Given the description of an element on the screen output the (x, y) to click on. 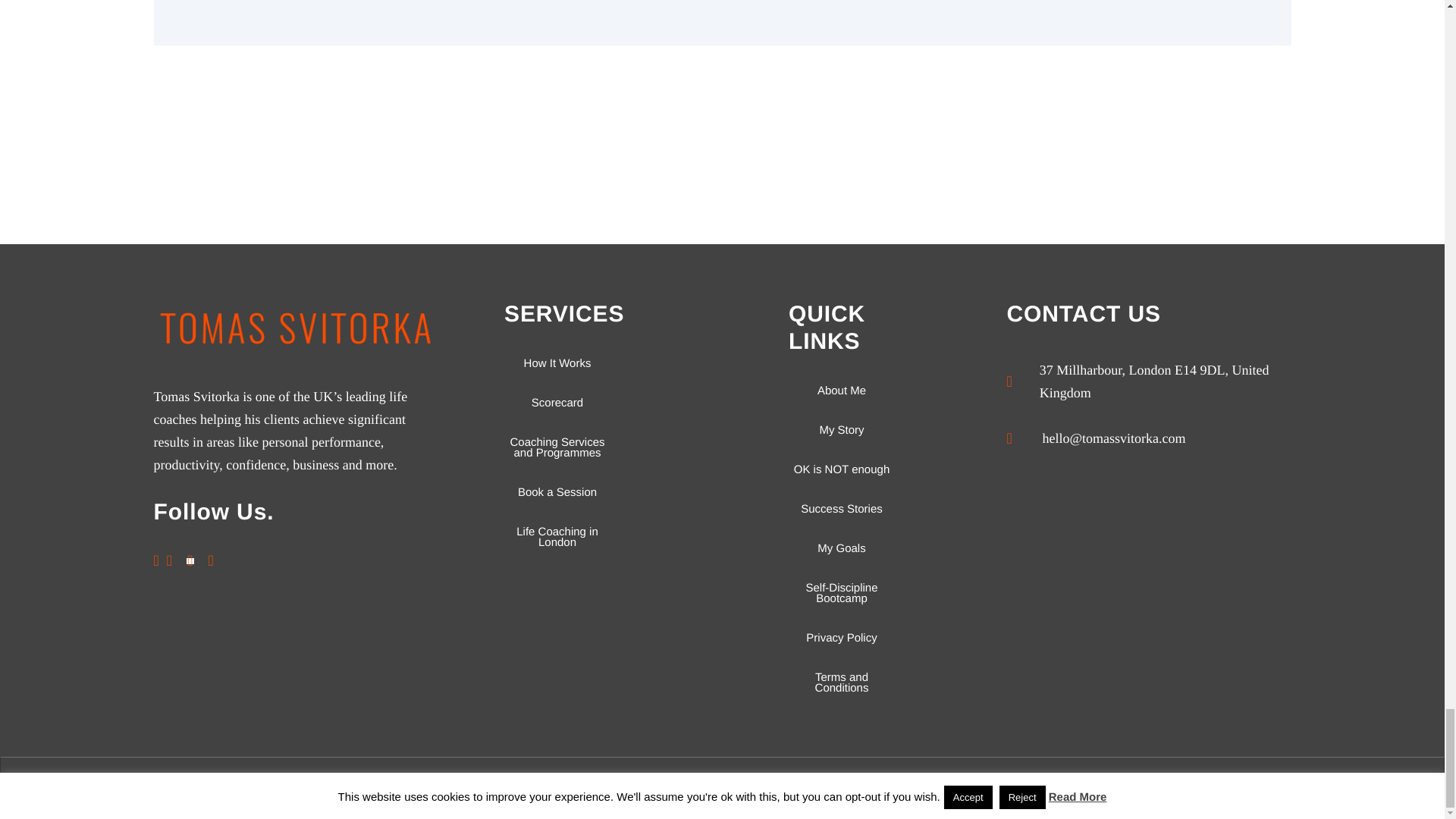
Tomas Svitorka London Life Coach Logo (295, 327)
